Given the description of an element on the screen output the (x, y) to click on. 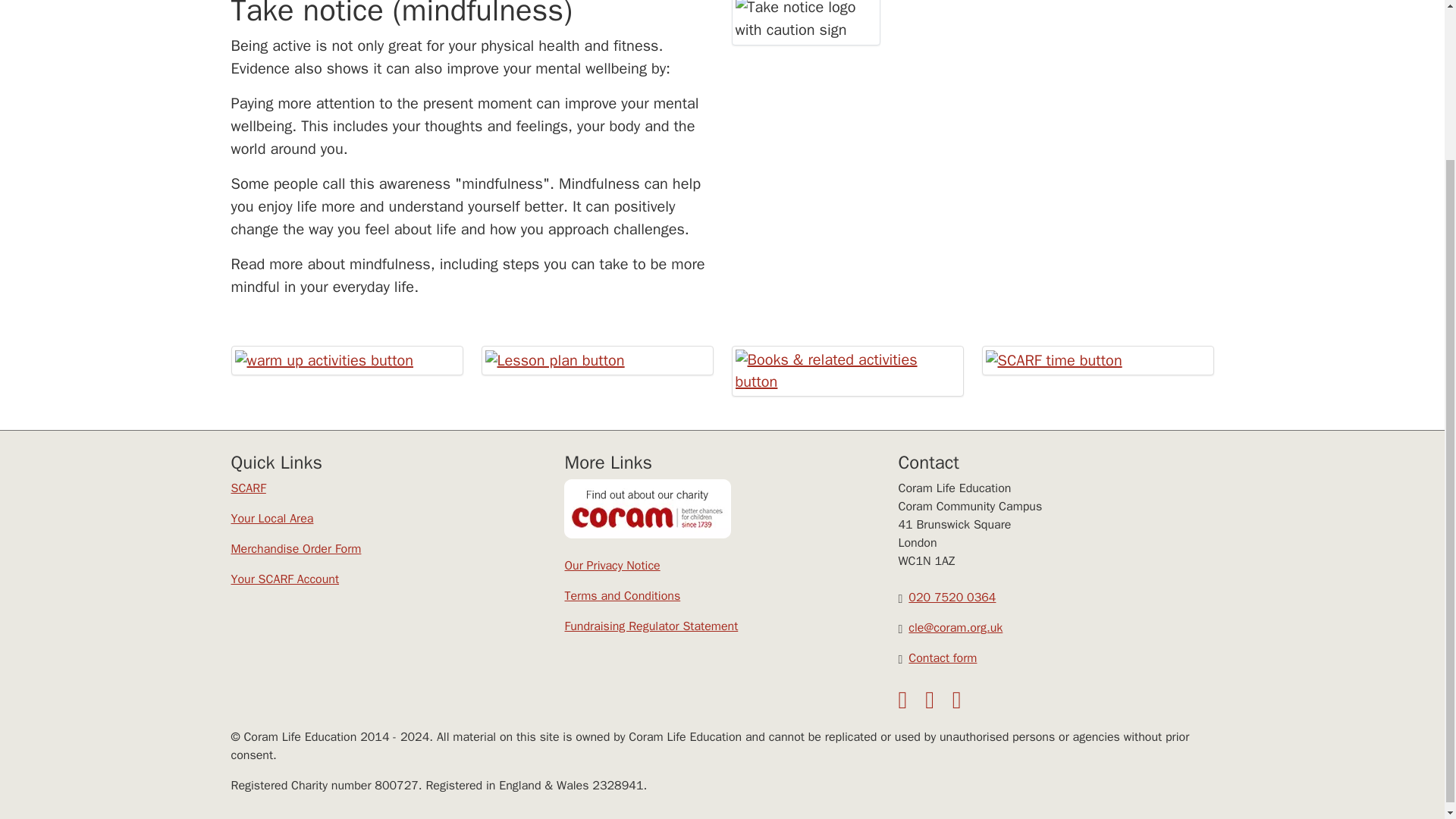
Merchandise Order Form (295, 548)
SCARF (247, 488)
Your SCARF Account (284, 579)
Your Local Area (271, 518)
